Given the description of an element on the screen output the (x, y) to click on. 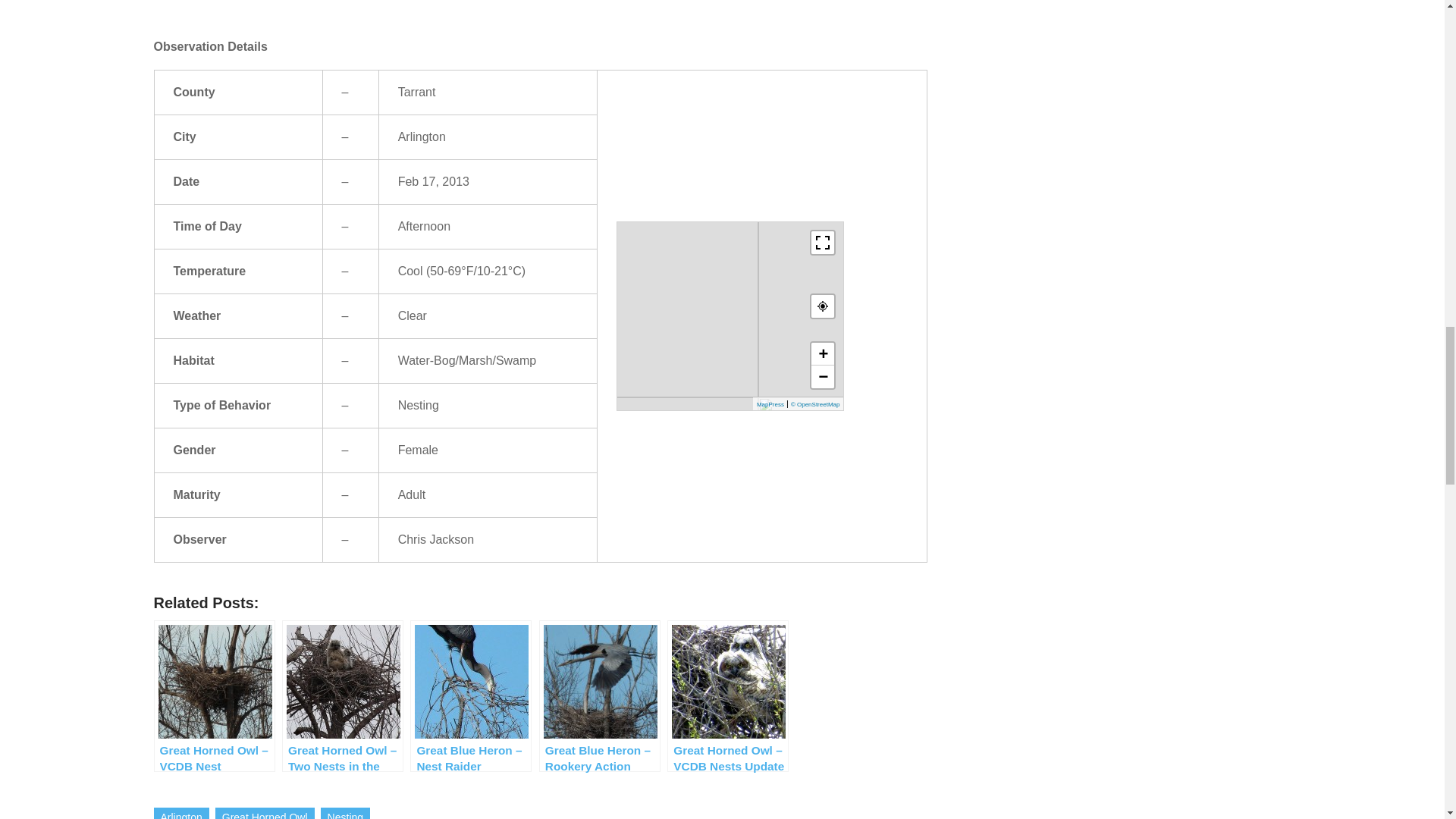
Your Location (822, 306)
Nesting (344, 813)
Great Horned Owl (264, 813)
MapPress (770, 404)
Toggle fullscreen view (822, 242)
Arlington (180, 813)
